Given the description of an element on the screen output the (x, y) to click on. 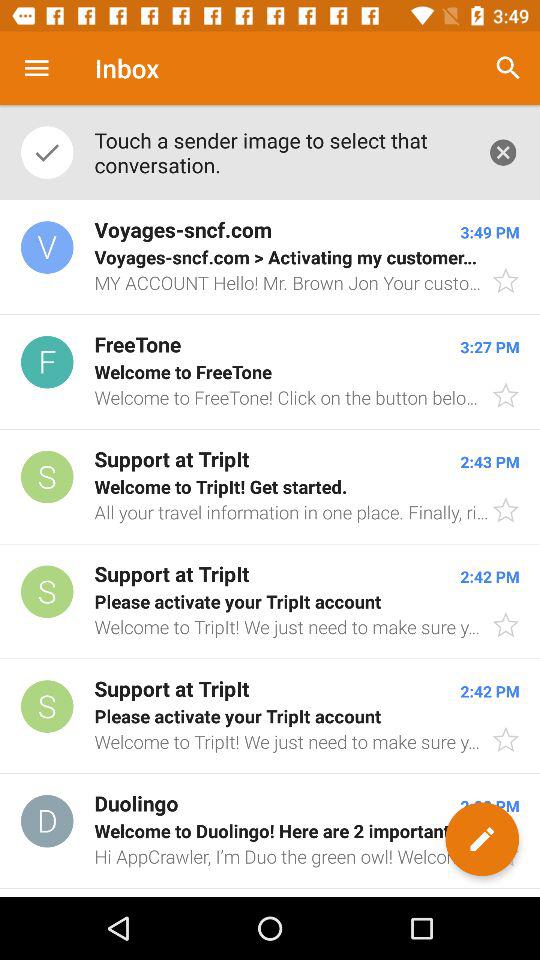
select item next to touch a sender icon (503, 152)
